Given the description of an element on the screen output the (x, y) to click on. 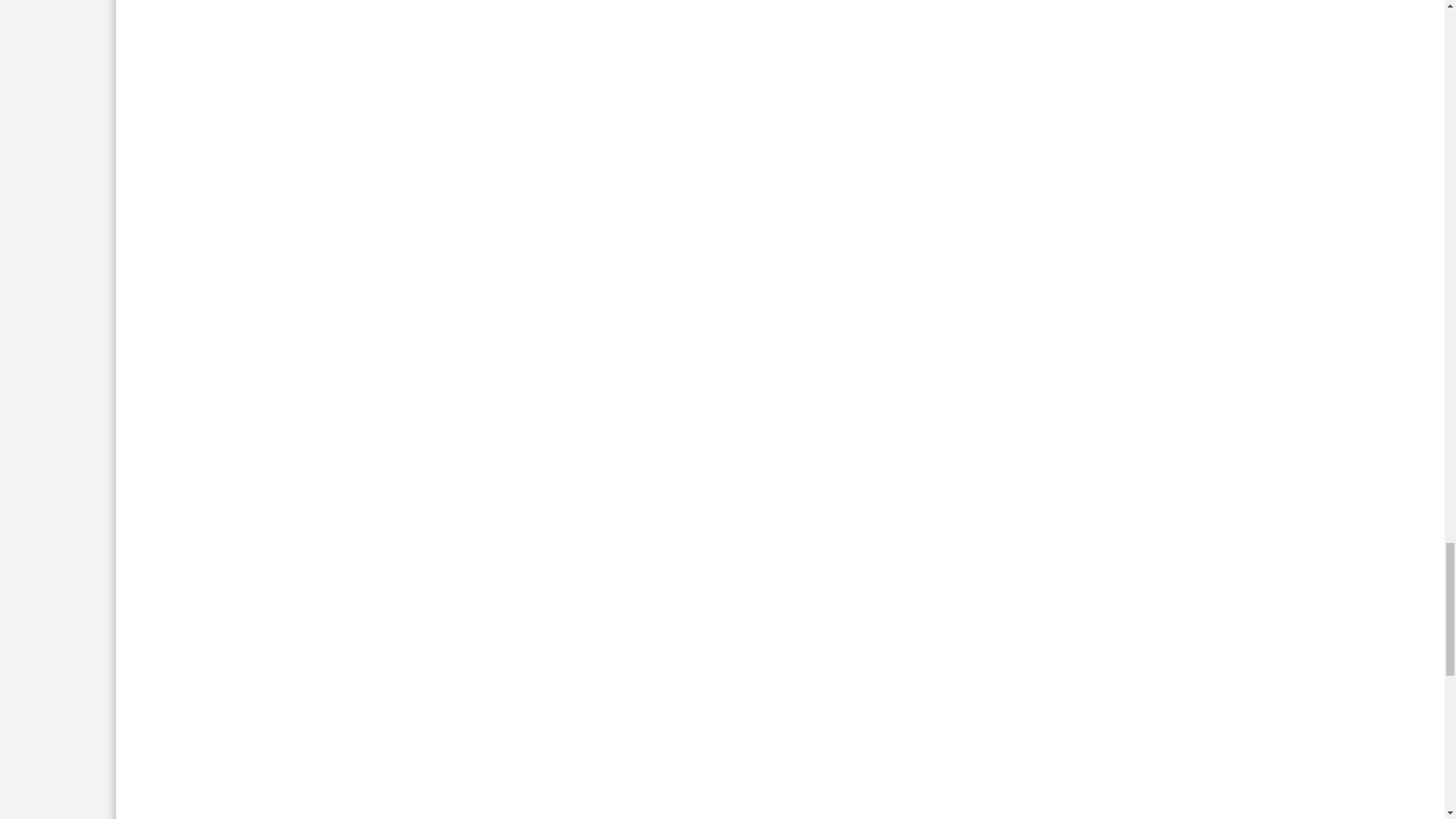
Malvinder Parmar (521, 476)
cognitive disposition to respond (781, 48)
